Given the description of an element on the screen output the (x, y) to click on. 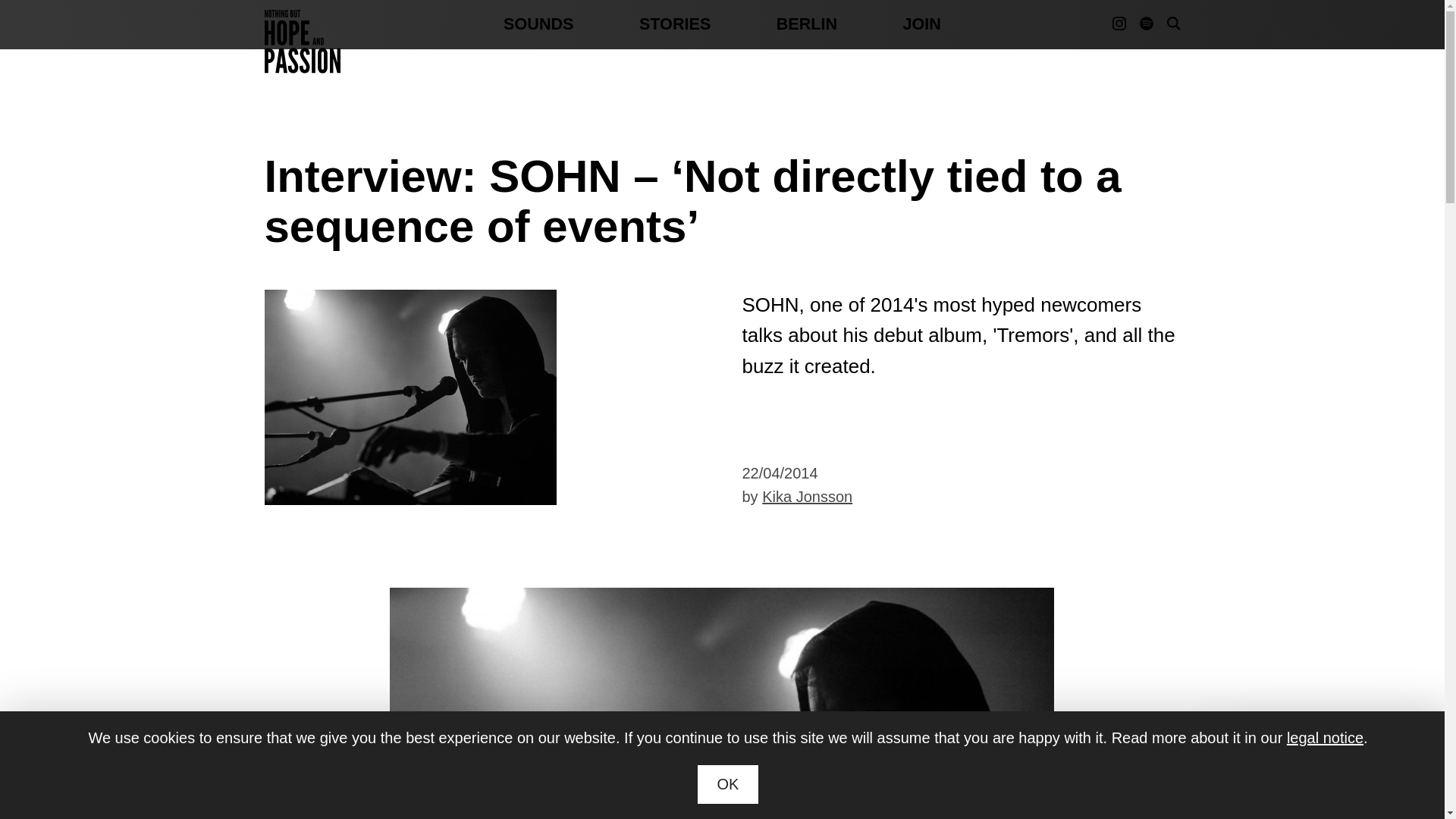
SOUNDS (538, 23)
legal notice (1324, 737)
JOIN (921, 23)
OK (727, 783)
Subscribe now (1265, 777)
Posts by Kika Jonsson (806, 496)
Kika Jonsson (806, 496)
BERLIN (806, 23)
STORIES (674, 23)
Go (1153, 121)
